Given the description of an element on the screen output the (x, y) to click on. 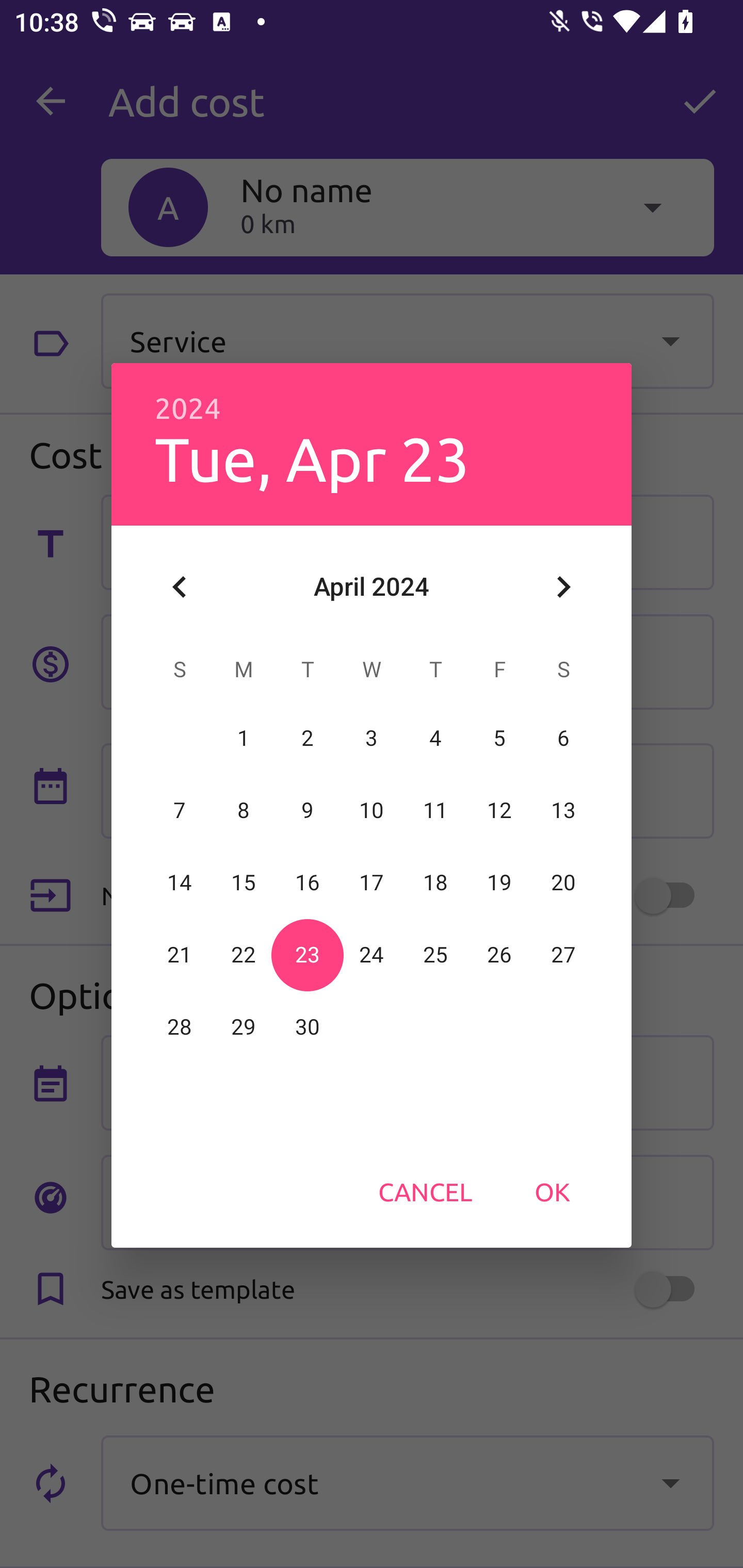
2024 (187, 408)
Tue, Apr 23 (311, 458)
Previous month (178, 587)
Next month (563, 587)
1 01 April 2024 (243, 738)
2 02 April 2024 (307, 738)
3 03 April 2024 (371, 738)
4 04 April 2024 (435, 738)
5 05 April 2024 (499, 738)
6 06 April 2024 (563, 738)
7 07 April 2024 (179, 810)
8 08 April 2024 (243, 810)
9 09 April 2024 (307, 810)
10 10 April 2024 (371, 810)
11 11 April 2024 (435, 810)
12 12 April 2024 (499, 810)
13 13 April 2024 (563, 810)
14 14 April 2024 (179, 882)
15 15 April 2024 (243, 882)
16 16 April 2024 (307, 882)
17 17 April 2024 (371, 882)
18 18 April 2024 (435, 882)
19 19 April 2024 (499, 882)
20 20 April 2024 (563, 882)
21 21 April 2024 (179, 954)
22 22 April 2024 (243, 954)
23 23 April 2024 (307, 954)
24 24 April 2024 (371, 954)
25 25 April 2024 (435, 954)
26 26 April 2024 (499, 954)
27 27 April 2024 (563, 954)
28 28 April 2024 (179, 1026)
29 29 April 2024 (243, 1026)
30 30 April 2024 (307, 1026)
CANCEL (425, 1191)
OK (552, 1191)
